Given the description of an element on the screen output the (x, y) to click on. 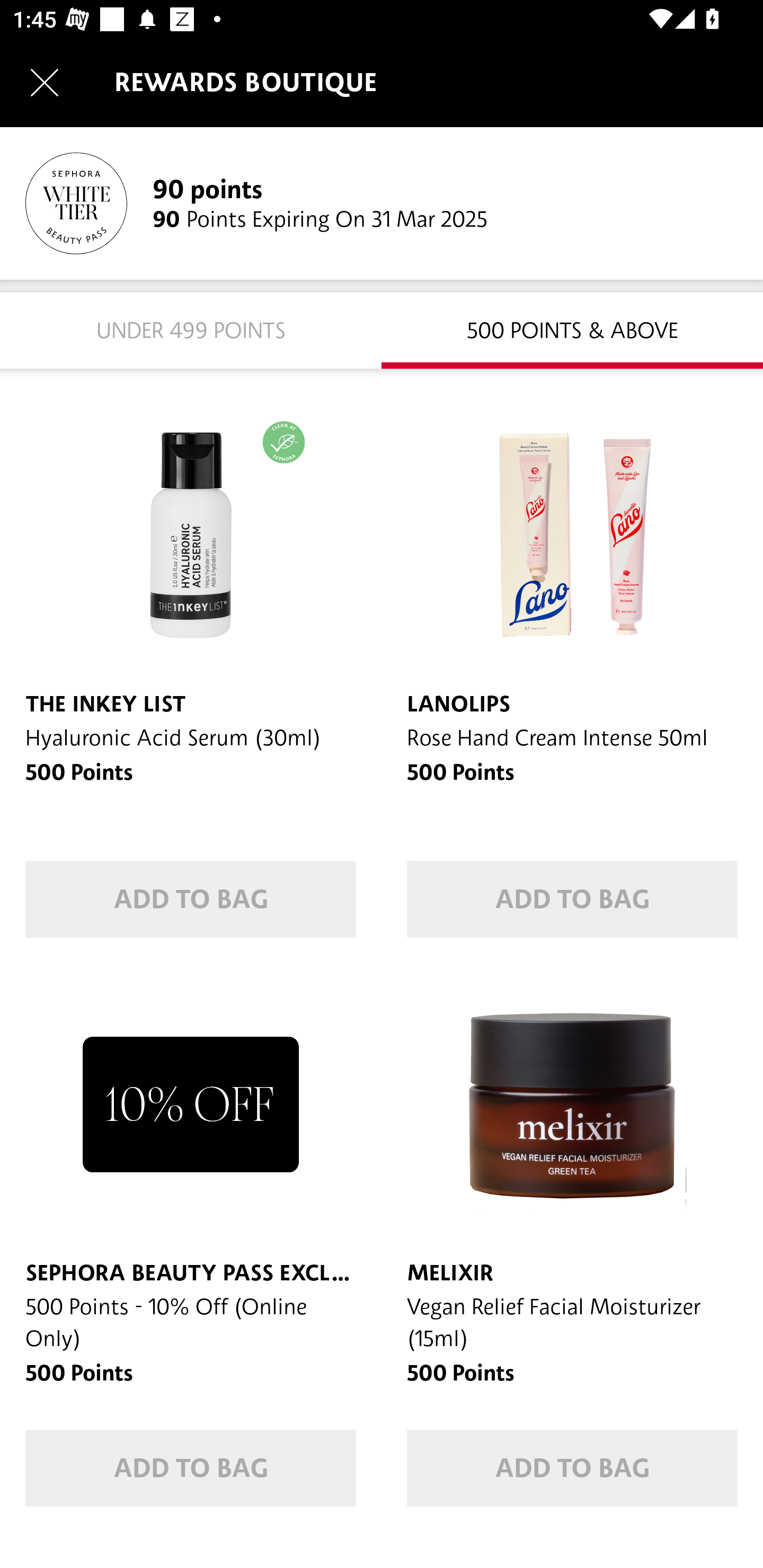
Navigate up (44, 82)
Under 499 Points UNDER 499 POINTS (190, 329)
ADD TO BAG (190, 898)
ADD TO BAG (571, 898)
ADD TO BAG (190, 1468)
ADD TO BAG (571, 1468)
